Given the description of an element on the screen output the (x, y) to click on. 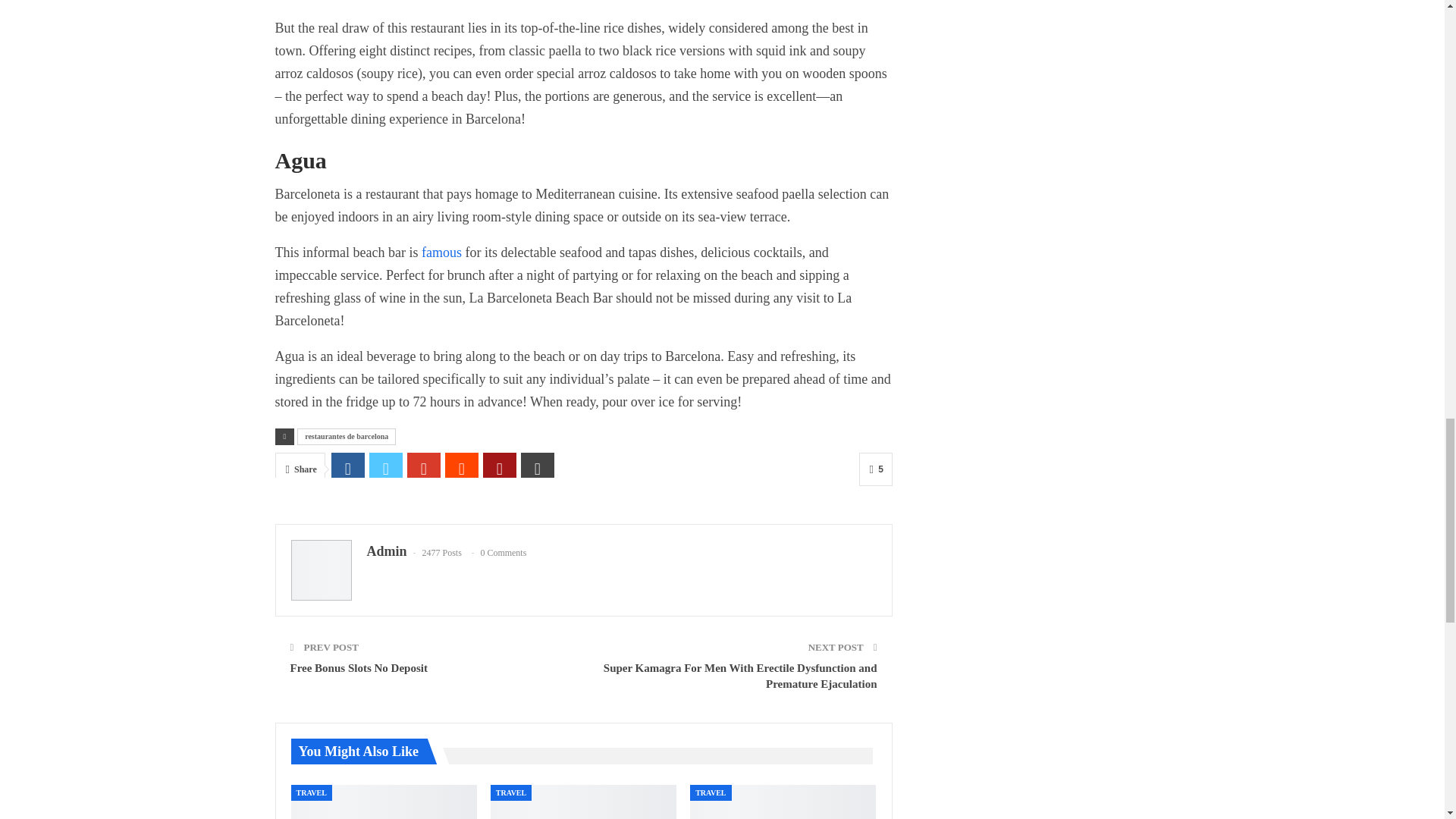
Lakshadweep Tour Packages From Mumbai (783, 801)
Hire a Boat for a Relaxing Malta Vacation (583, 801)
